Given the description of an element on the screen output the (x, y) to click on. 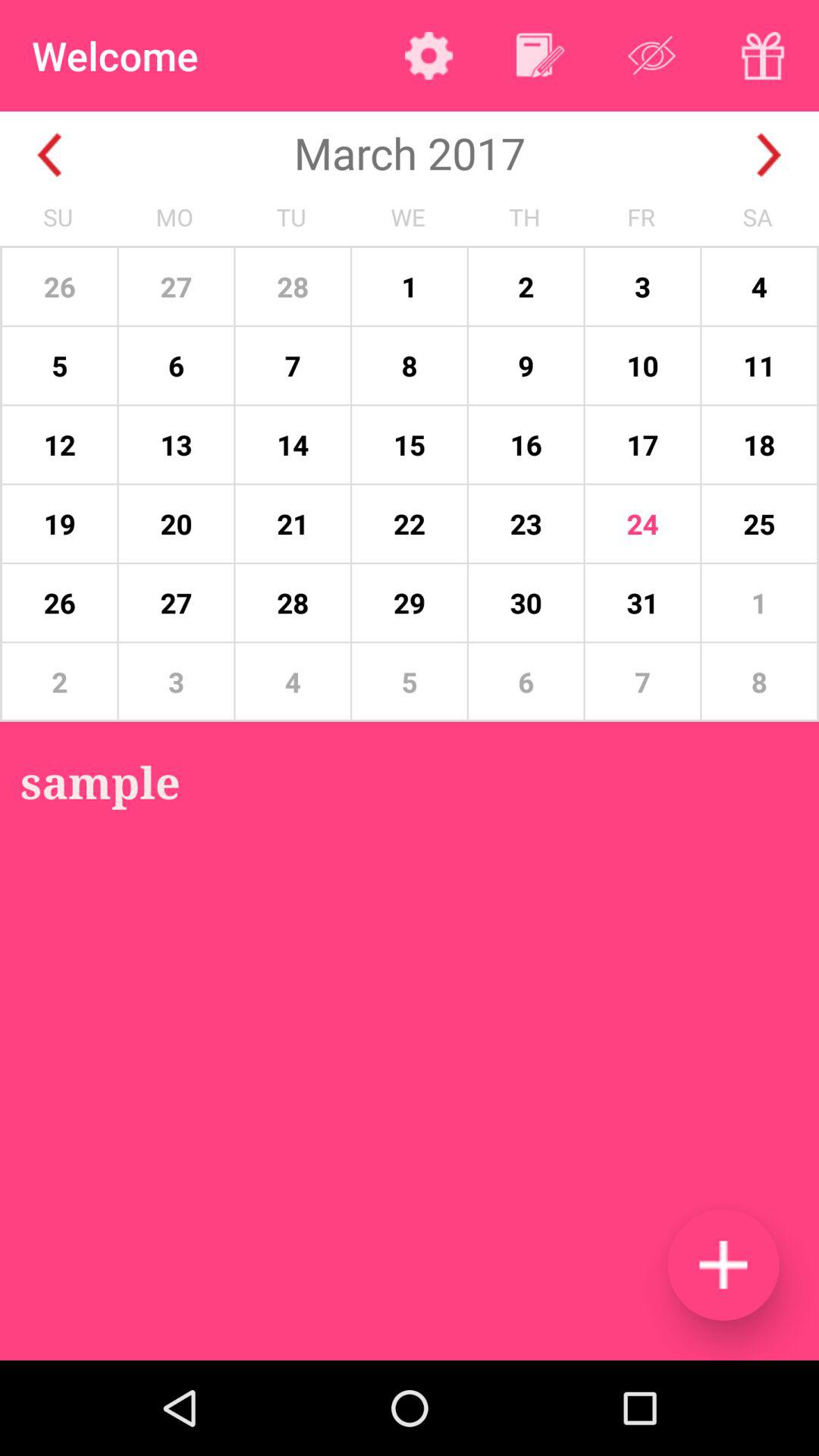
edit (540, 55)
